Given the description of an element on the screen output the (x, y) to click on. 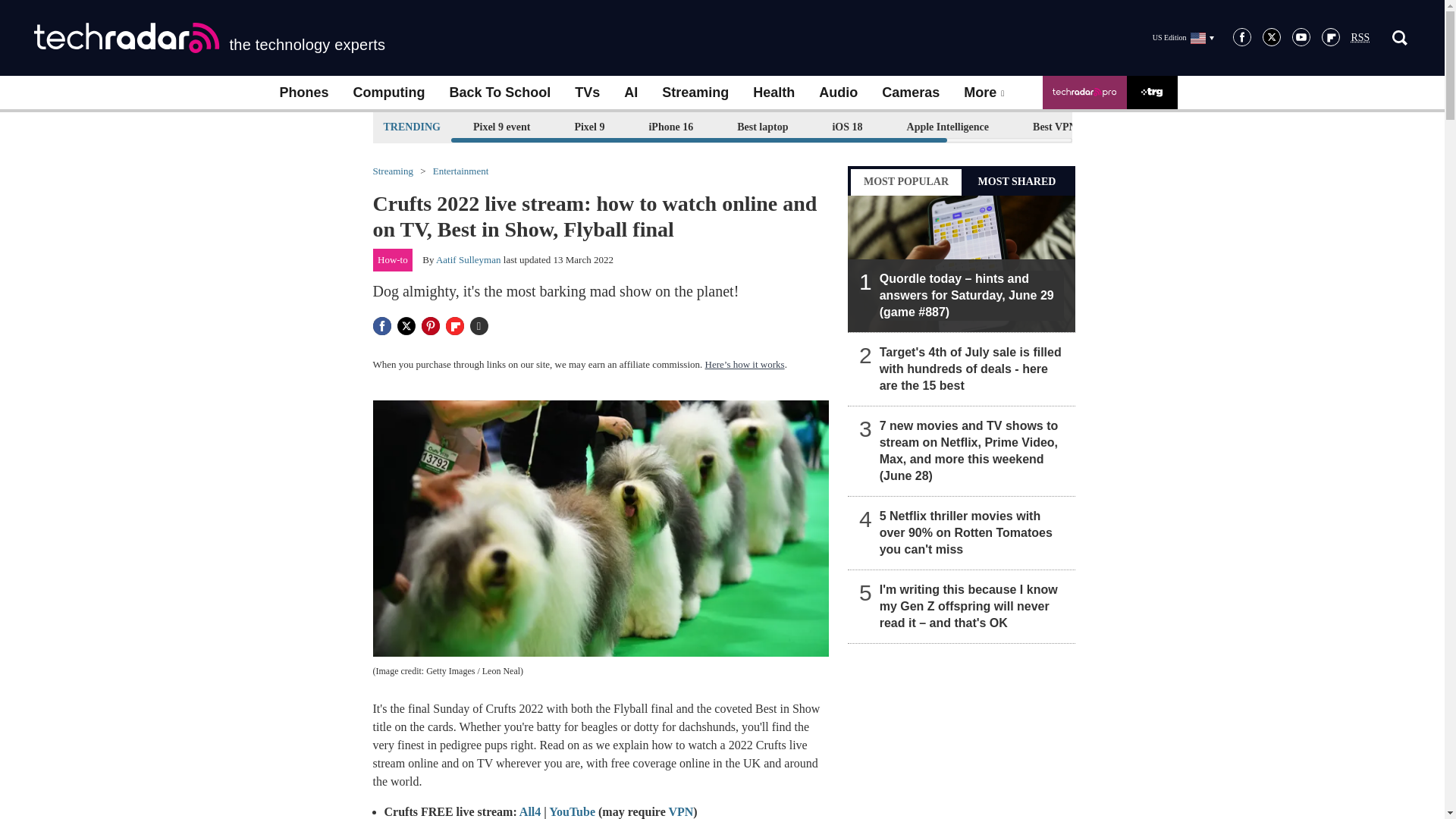
Streaming (695, 92)
Really Simple Syndication (1360, 37)
Health (773, 92)
Cameras (910, 92)
US Edition (1182, 37)
TVs (586, 92)
Audio (837, 92)
the technology experts (209, 38)
Phones (303, 92)
Computing (389, 92)
